Given the description of an element on the screen output the (x, y) to click on. 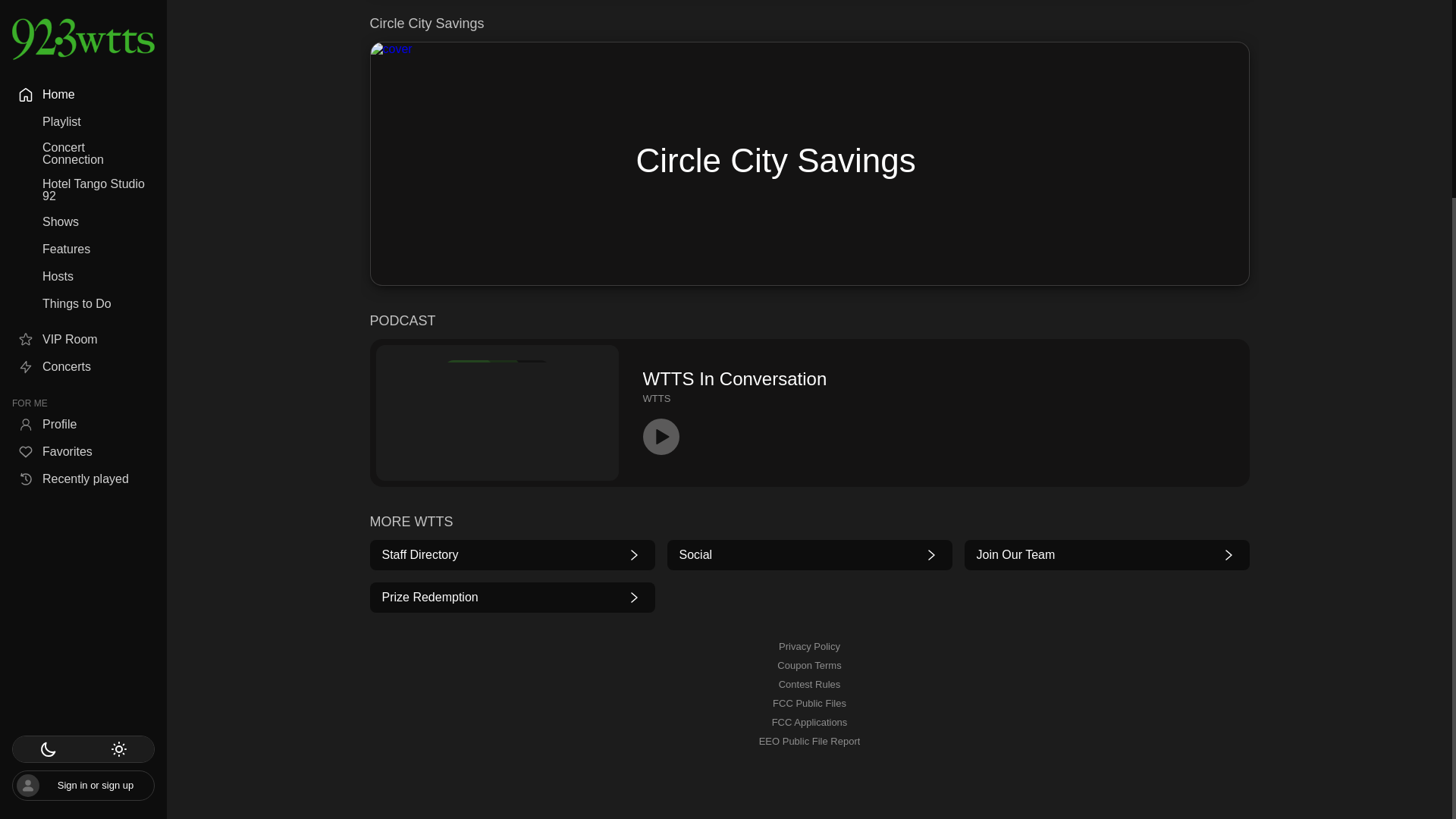
FCC Applications (809, 722)
Hosts (82, 15)
Favorites (82, 190)
Contest Rules (810, 6)
Join Our Team (809, 684)
Profile (1106, 555)
Coupon Terms (82, 162)
Prize Redemption (809, 665)
EEO Public File Report (512, 597)
FCC Public Files (809, 741)
Privacy Policy (809, 703)
Concerts (809, 646)
Sign in or sign up (82, 105)
